Given the description of an element on the screen output the (x, y) to click on. 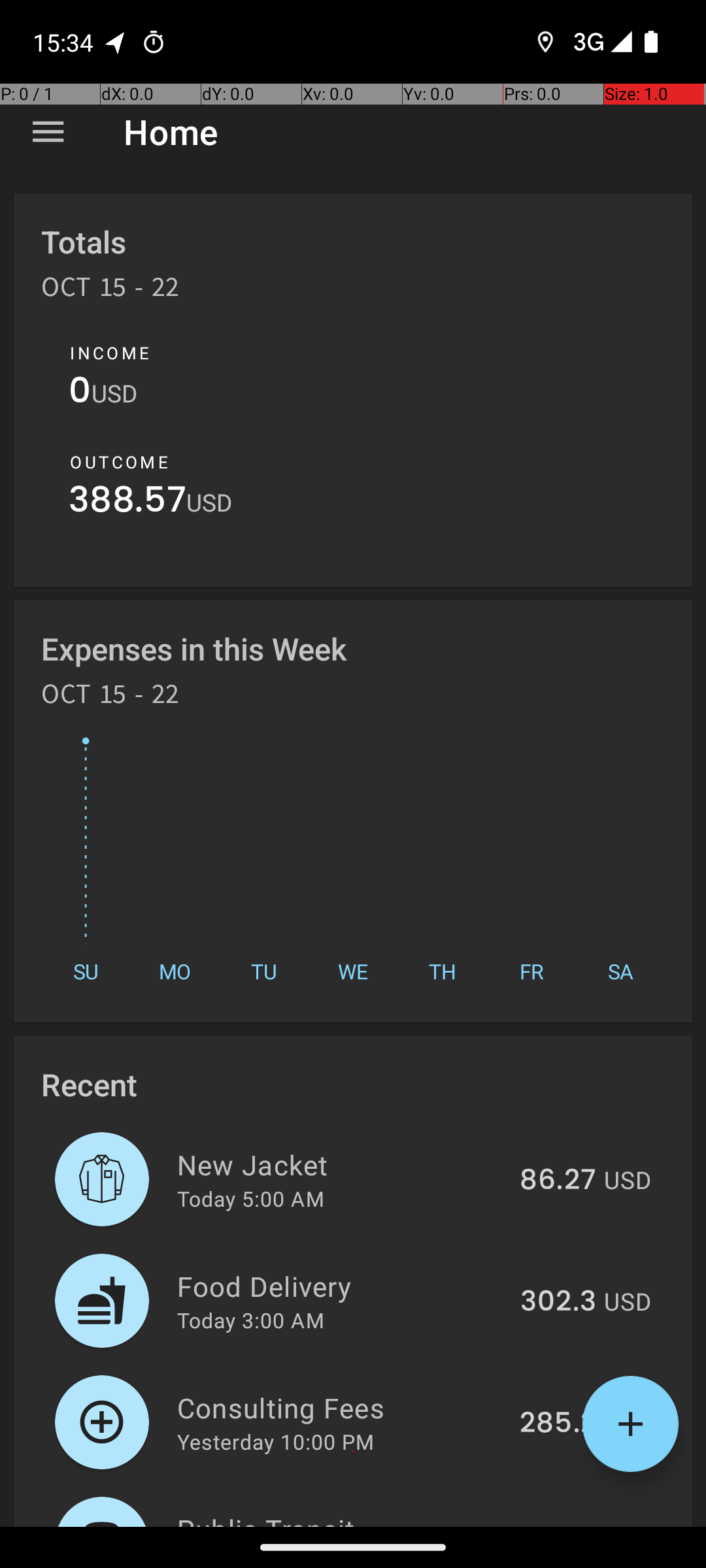
388.57 Element type: android.widget.TextView (127, 502)
New Jacket Element type: android.widget.TextView (340, 1164)
86.27 Element type: android.widget.TextView (557, 1180)
Today 3:00 AM Element type: android.widget.TextView (250, 1320)
302.3 Element type: android.widget.TextView (557, 1301)
Yesterday 10:00 PM Element type: android.widget.TextView (275, 1441)
285.2 Element type: android.widget.TextView (557, 1423)
Public Transit Element type: android.widget.TextView (335, 1518)
315.78 Element type: android.widget.TextView (551, 1524)
